Given the description of an element on the screen output the (x, y) to click on. 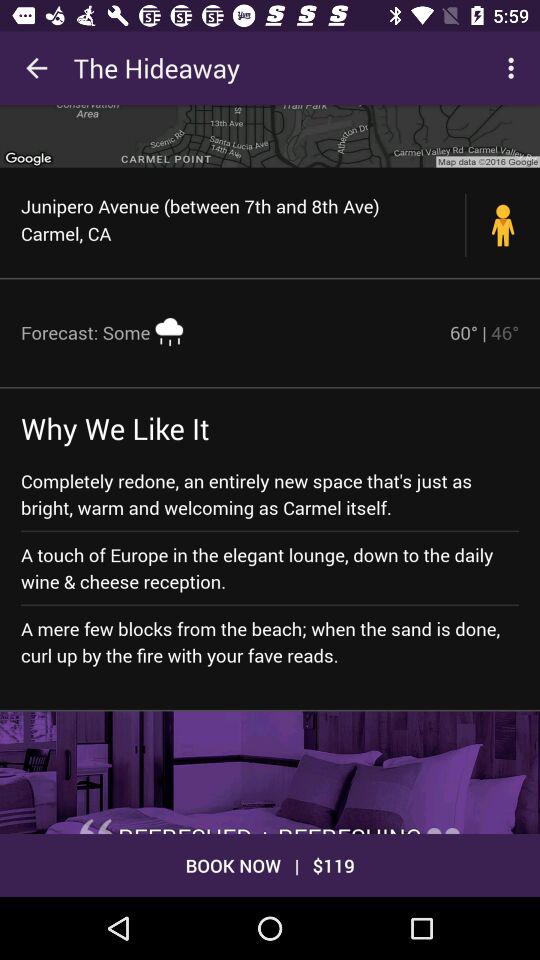
open item above completely redone an icon (484, 332)
